Given the description of an element on the screen output the (x, y) to click on. 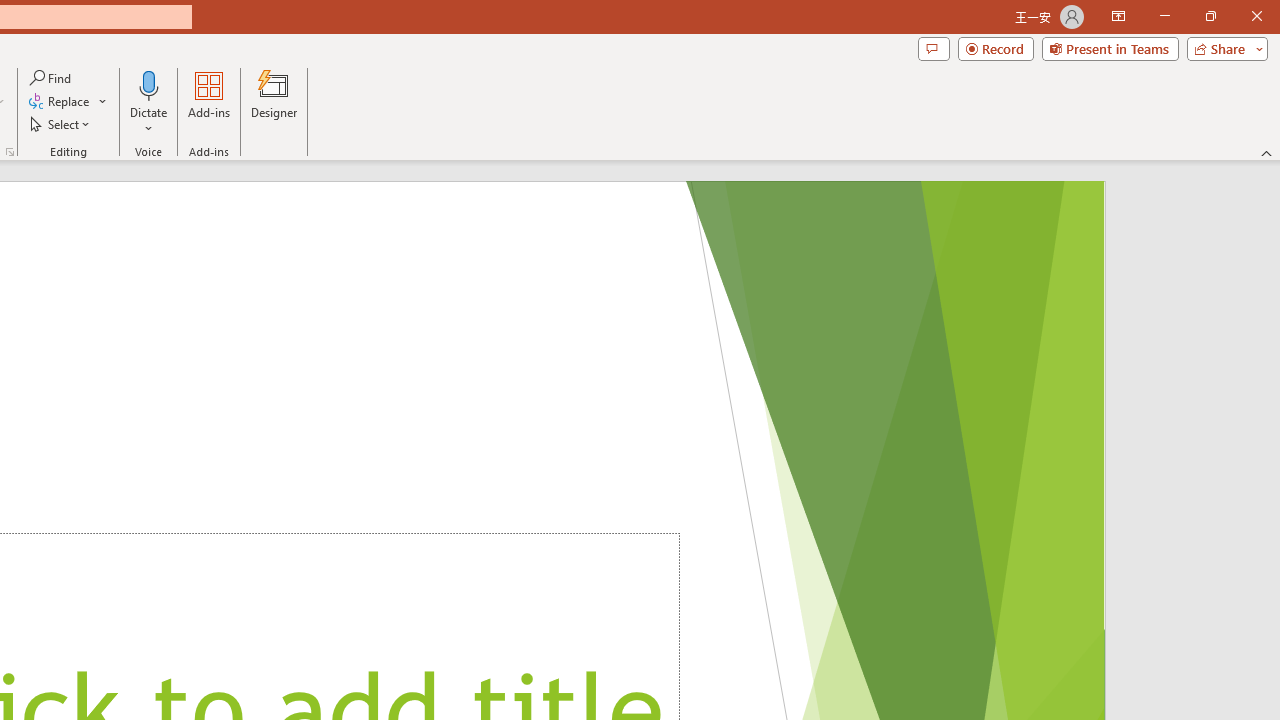
More Options (149, 121)
Format Object... (9, 151)
Select (61, 124)
Ribbon Display Options (1118, 16)
